Given the description of an element on the screen output the (x, y) to click on. 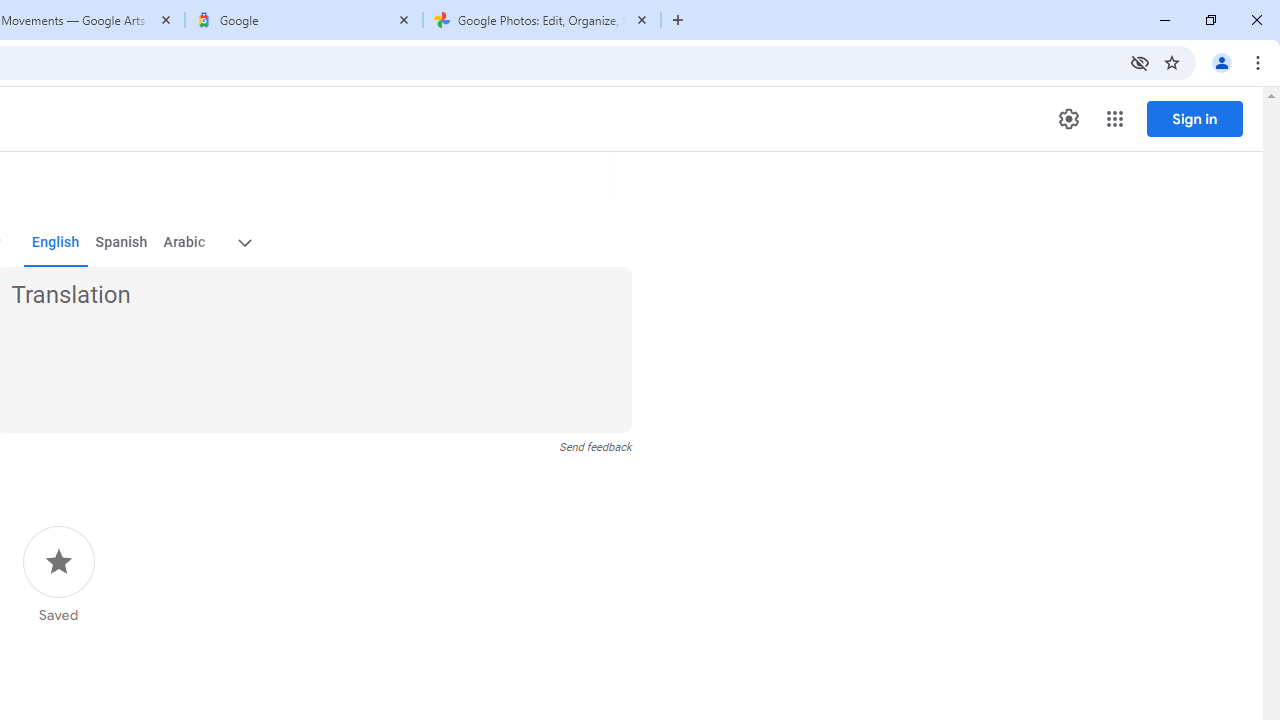
More target languages (244, 242)
